Given the description of an element on the screen output the (x, y) to click on. 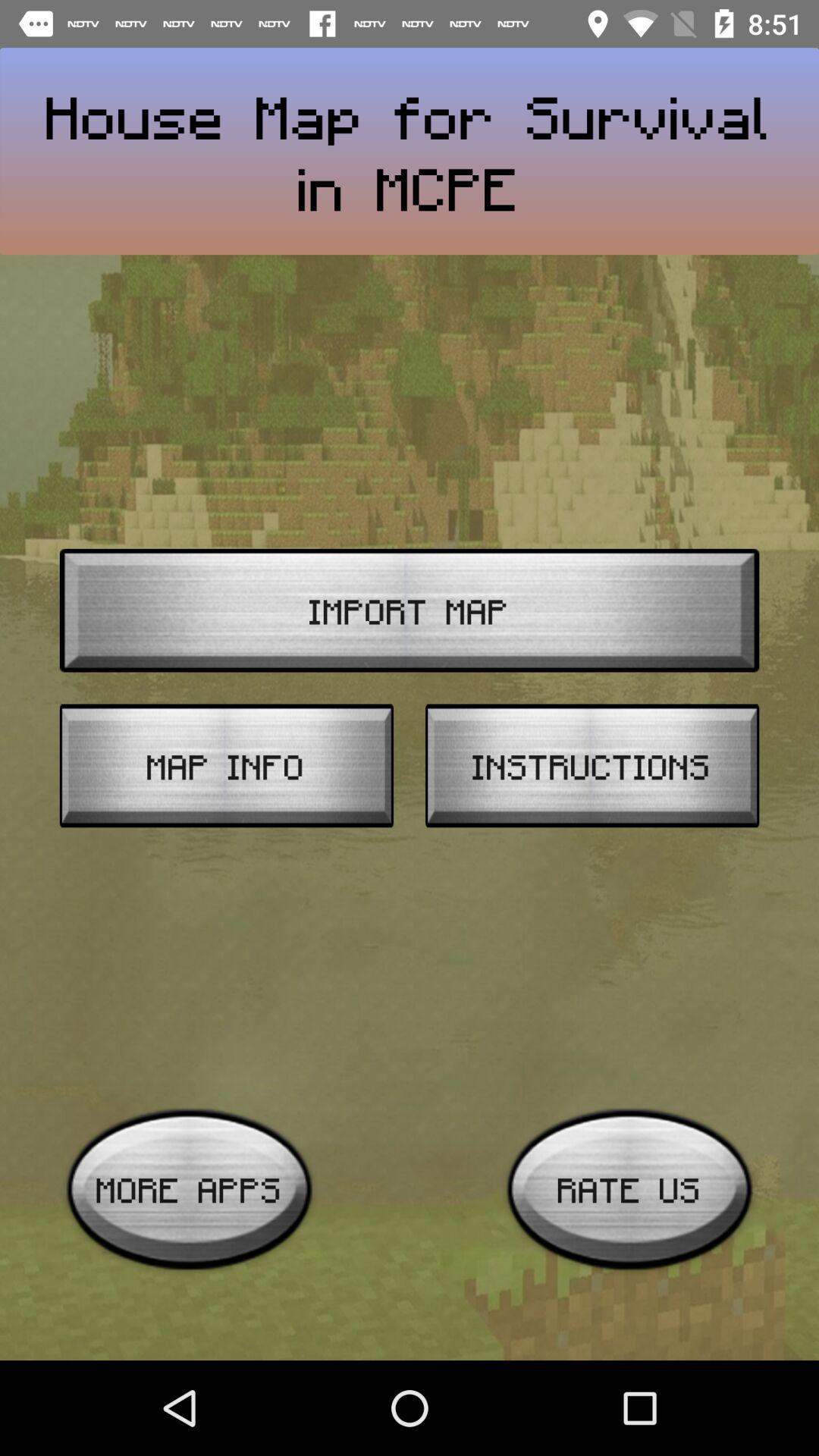
select more apps (189, 1188)
